Given the description of an element on the screen output the (x, y) to click on. 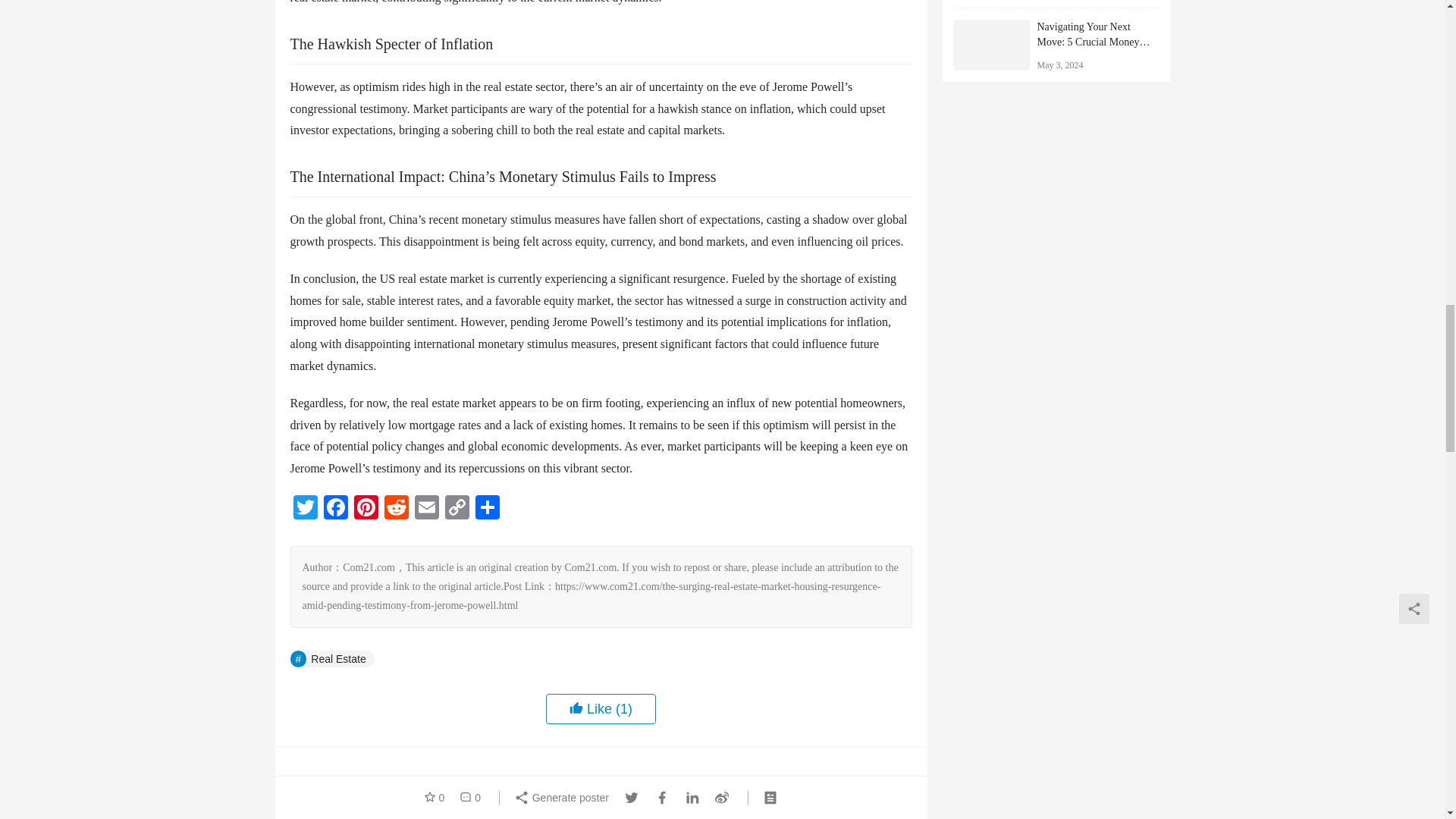
Facebook (335, 509)
Reddit (395, 509)
Facebook (335, 509)
Pinterest (365, 509)
Email (425, 509)
Pinterest (365, 509)
Twitter (304, 509)
Copy Link (456, 509)
Twitter (304, 509)
